Given the description of an element on the screen output the (x, y) to click on. 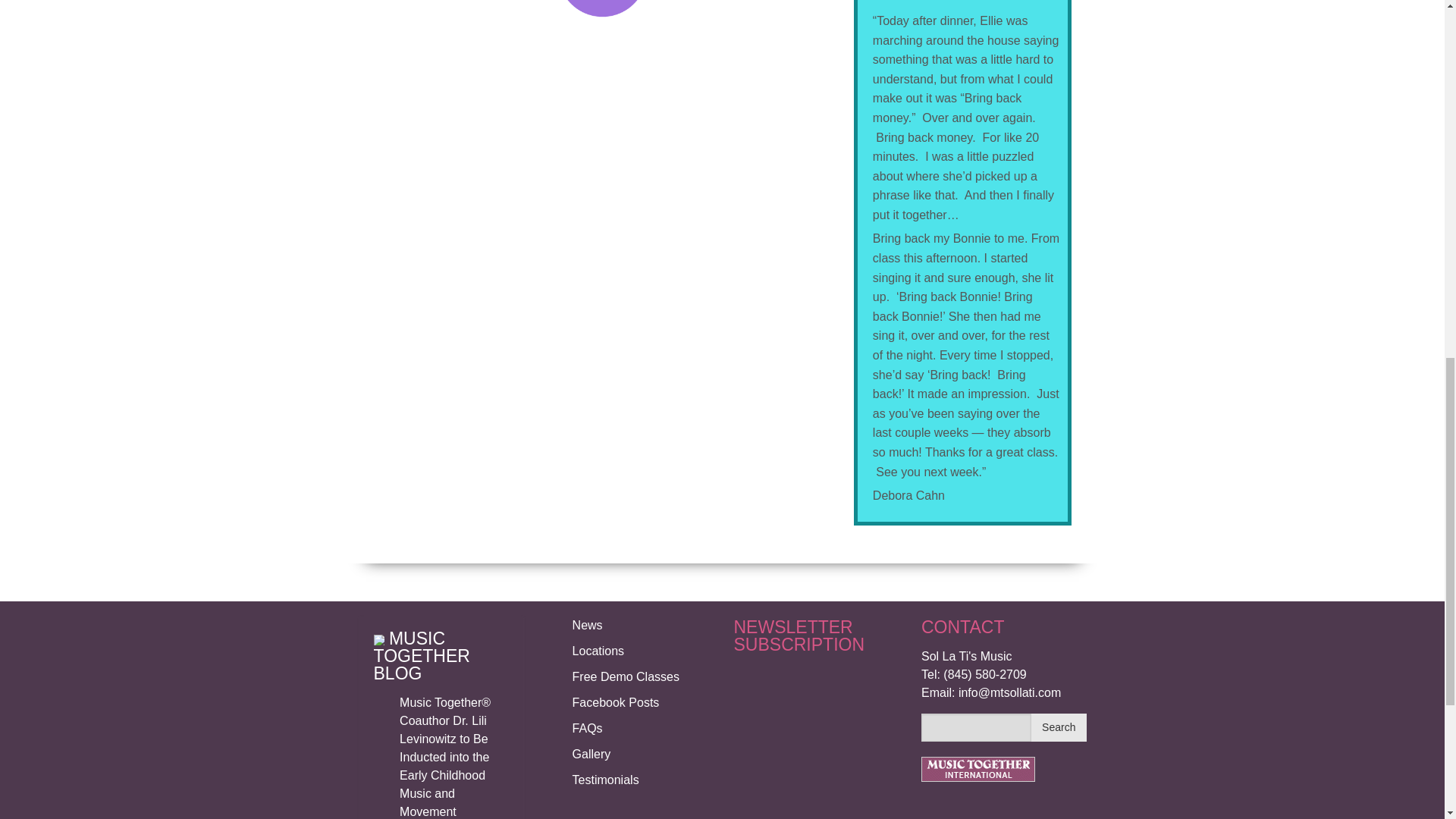
Search (1058, 727)
